Given the description of an element on the screen output the (x, y) to click on. 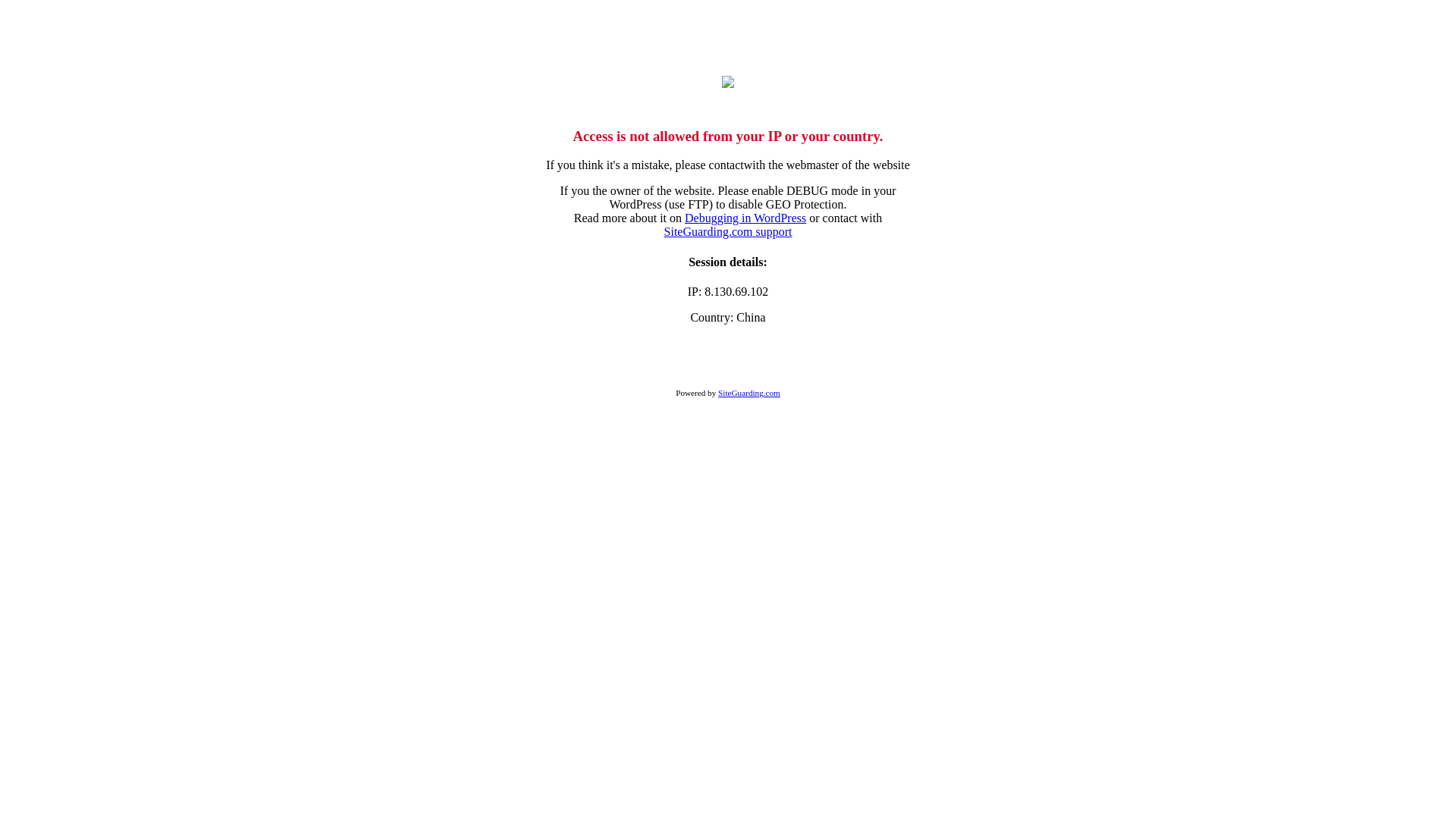
Debugging in WordPress Element type: text (745, 217)
SiteGuarding.com support Element type: text (728, 231)
SiteGuarding.com Element type: text (749, 392)
